Given the description of an element on the screen output the (x, y) to click on. 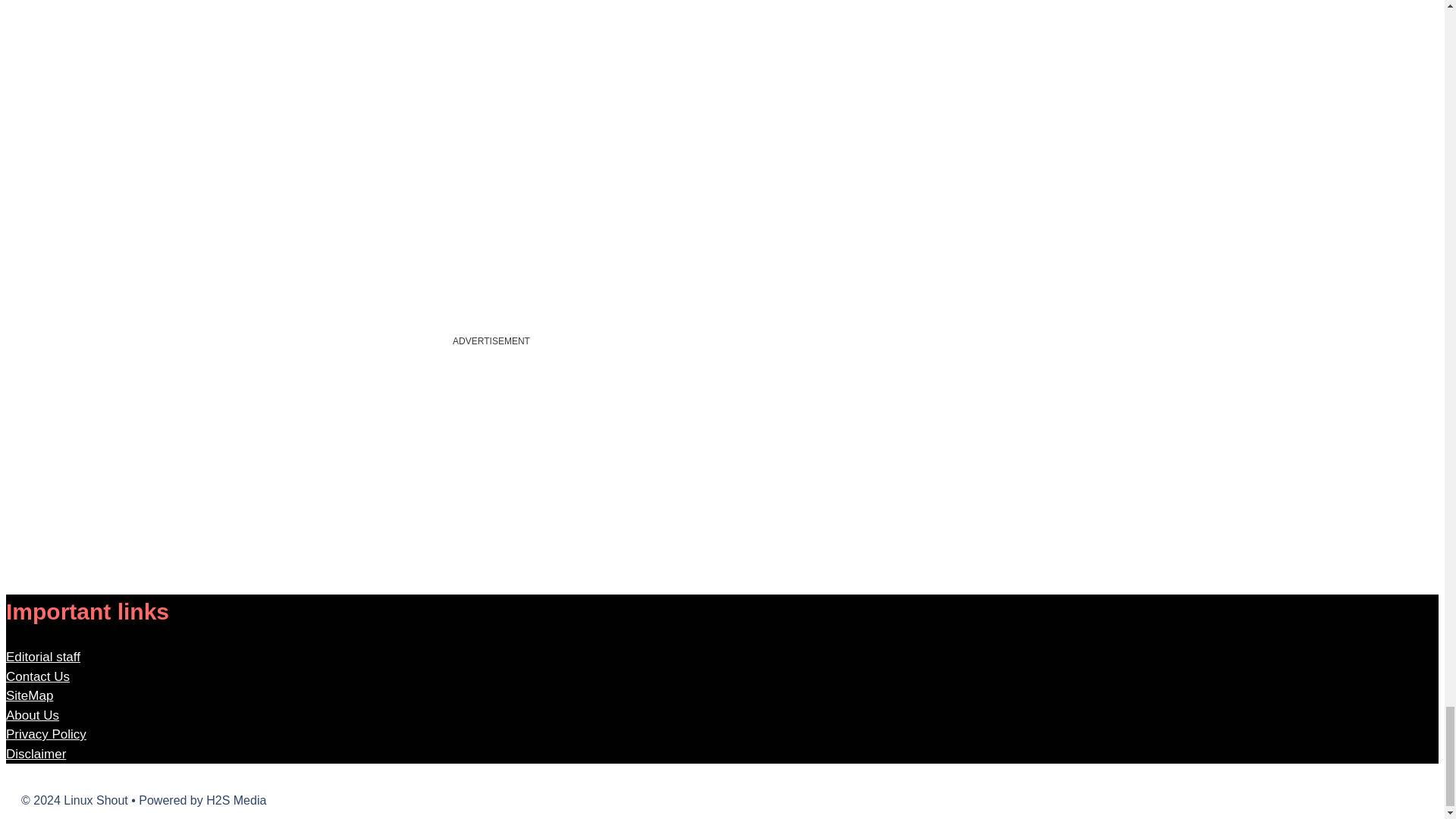
Contact Us (37, 676)
About Us (32, 715)
SiteMap (28, 695)
Privacy Policy (45, 734)
Disclaimer (35, 753)
Editorial staff (42, 657)
